Given the description of an element on the screen output the (x, y) to click on. 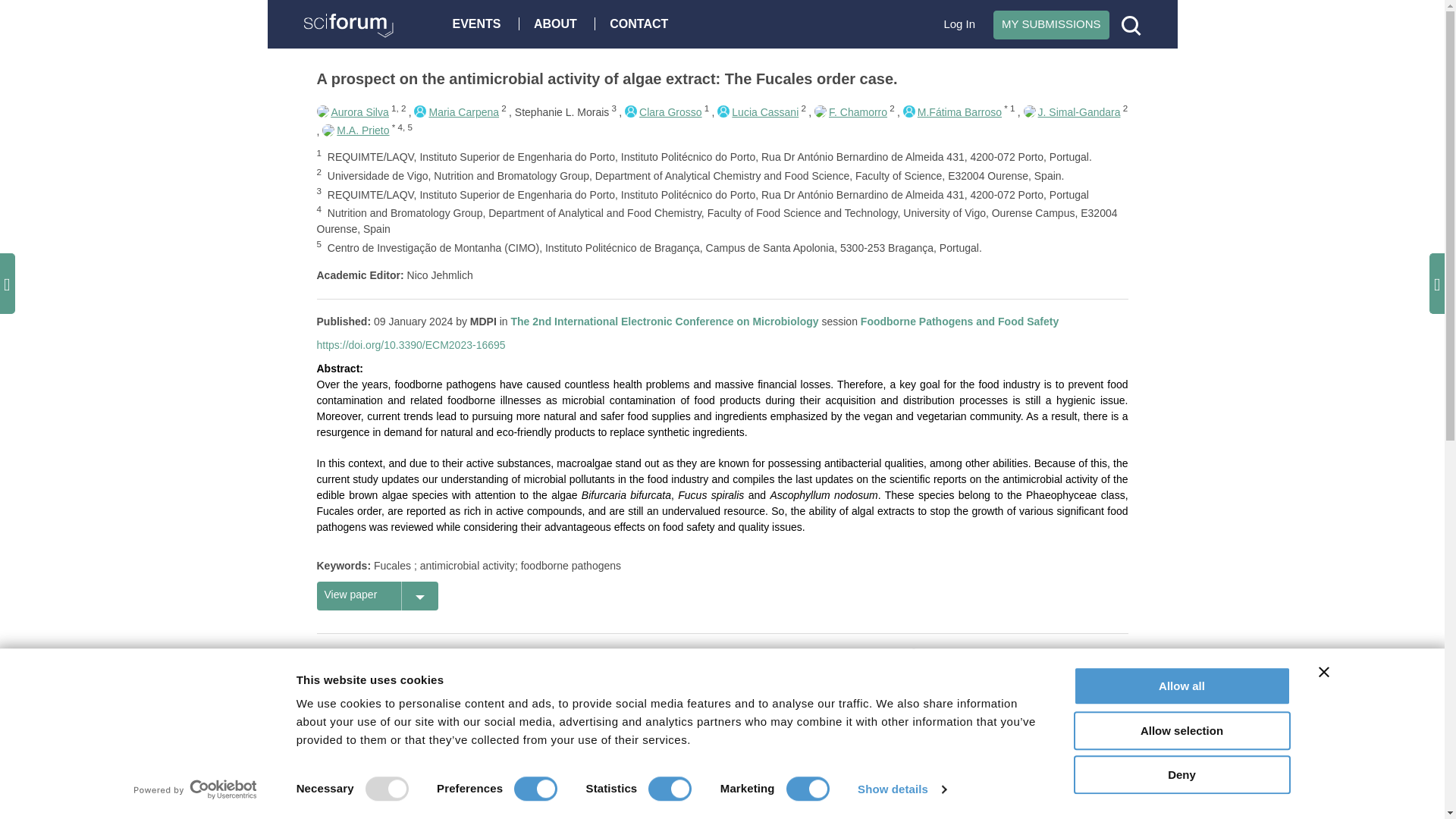
Show details (900, 789)
